Given the description of an element on the screen output the (x, y) to click on. 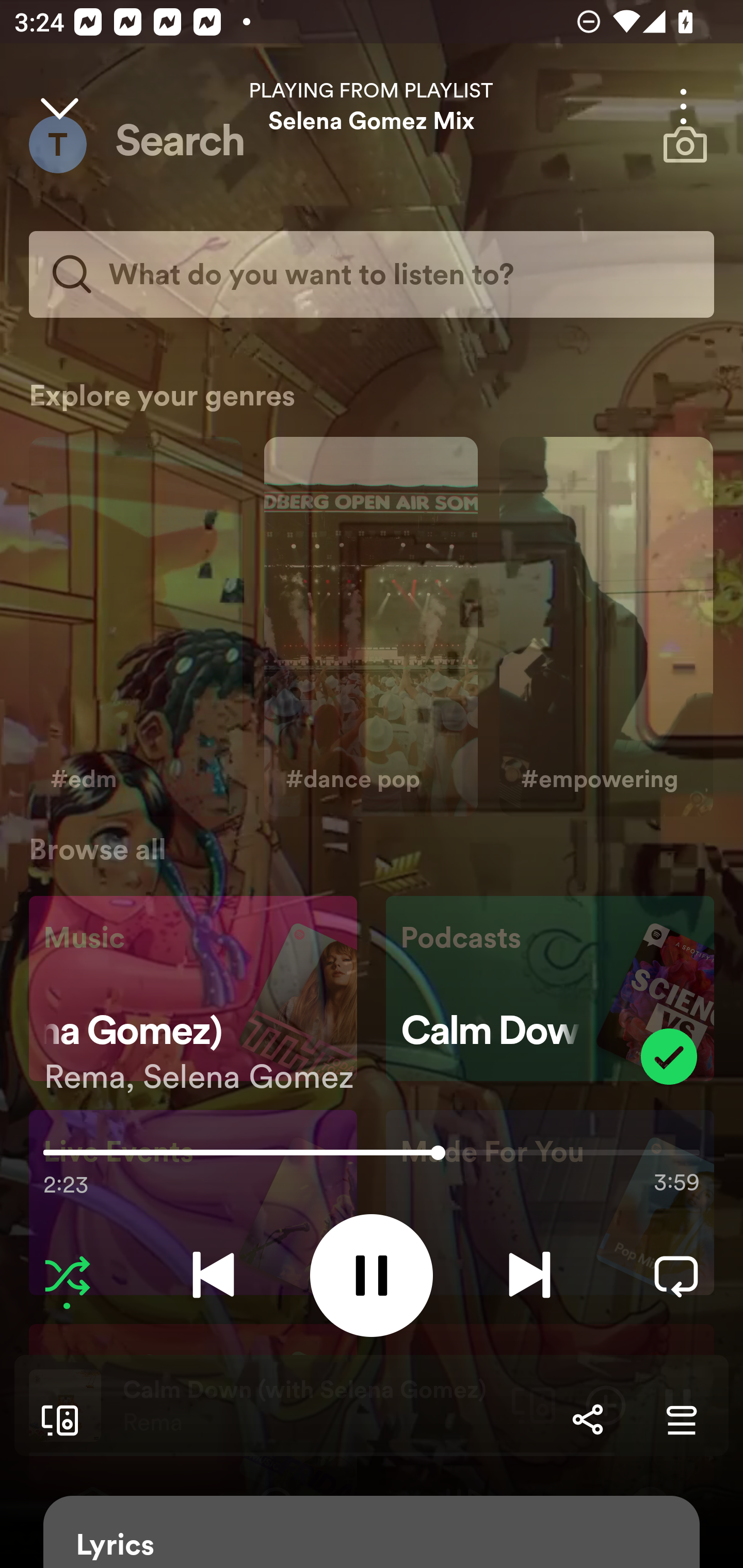
Close (59, 106)
PLAYING FROM PLAYLIST Selena Gomez Mix (371, 106)
Item added (669, 1056)
2:23 3:59 143922.0 Use volume keys to adjust (371, 1157)
Pause (371, 1275)
Previous (212, 1275)
Next (529, 1275)
Stop shuffling tracks (66, 1275)
Repeat (676, 1275)
Share (587, 1419)
Go to Queue (681, 1419)
Connect to a device. Opens the devices menu (55, 1419)
Lyrics (371, 1531)
